Given the description of an element on the screen output the (x, y) to click on. 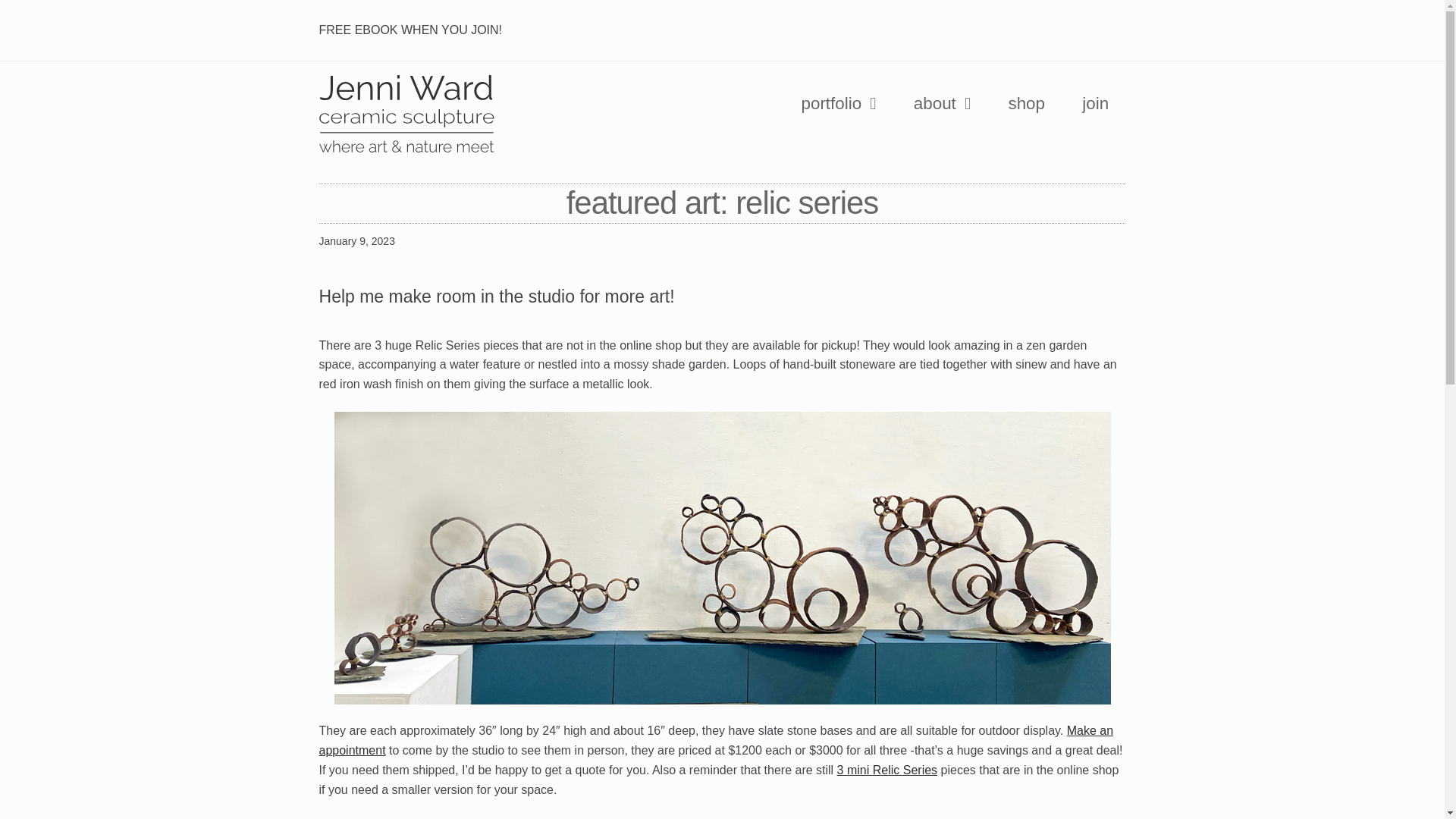
FREE EBOOK WHEN YOU JOIN! (415, 30)
about (941, 103)
join (1095, 103)
shop (1026, 103)
portfolio (838, 103)
